Given the description of an element on the screen output the (x, y) to click on. 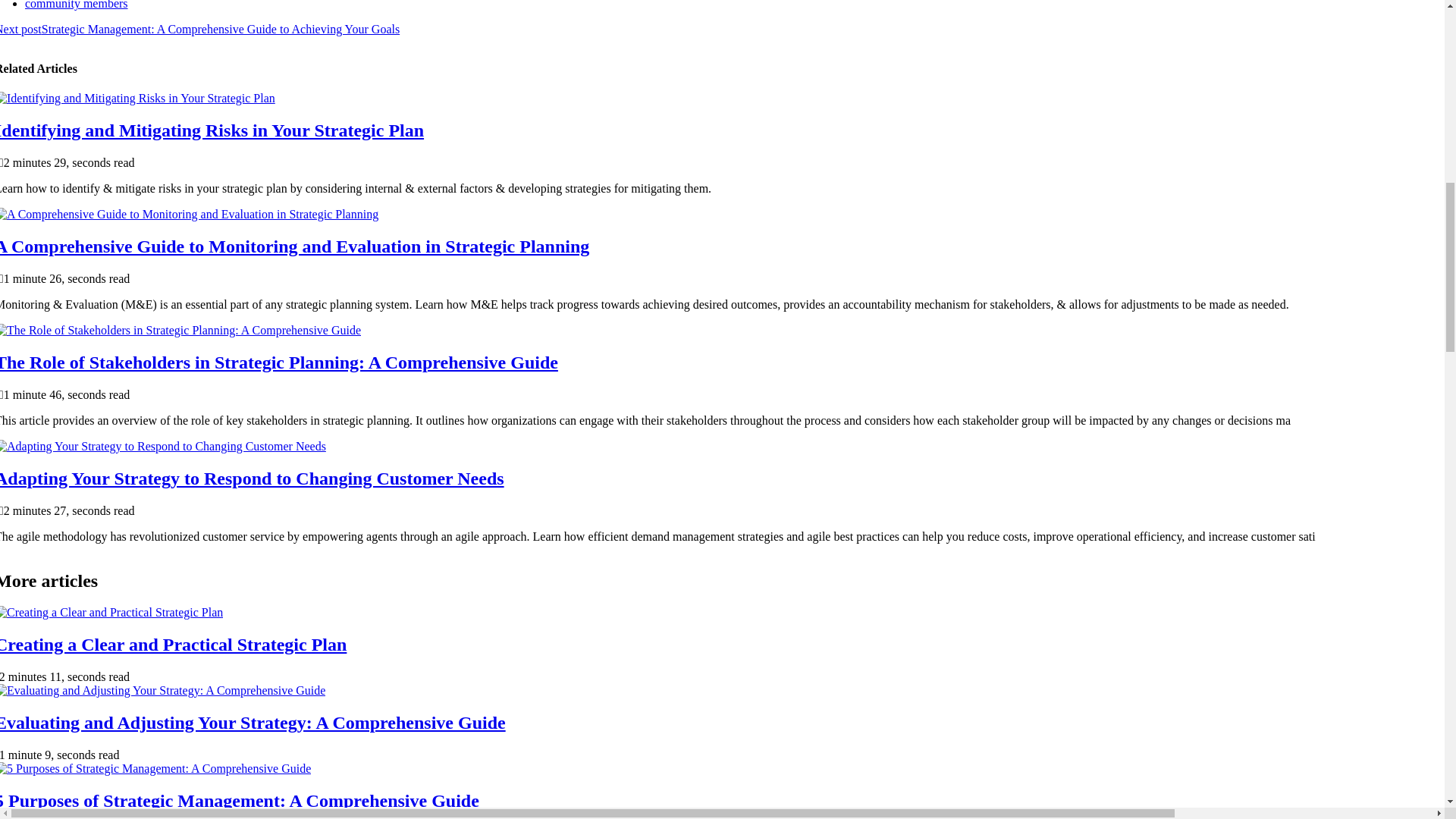
Identifying and Mitigating Risks in Your Strategic Plan (211, 130)
community members (76, 4)
